Given the description of an element on the screen output the (x, y) to click on. 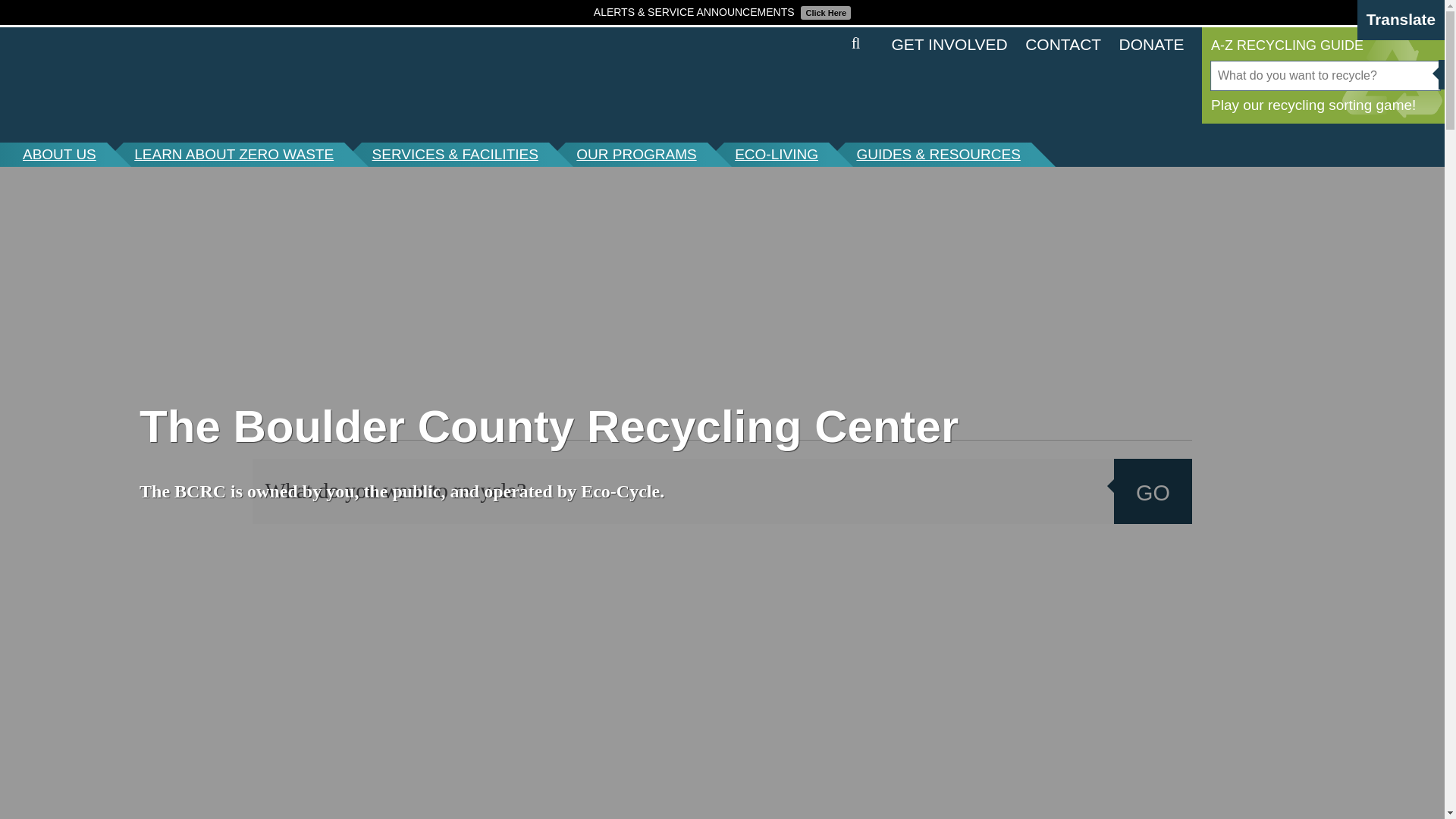
LEARN ABOUT ZERO WASTE (233, 154)
Click Here (823, 11)
DONATE (1152, 44)
ABOUT US (53, 154)
GET INVOLVED (949, 44)
CONTACT (1062, 44)
Play our recycling sorting game! (1323, 103)
A-Z RECYCLING GUIDE (1323, 45)
